Given the description of an element on the screen output the (x, y) to click on. 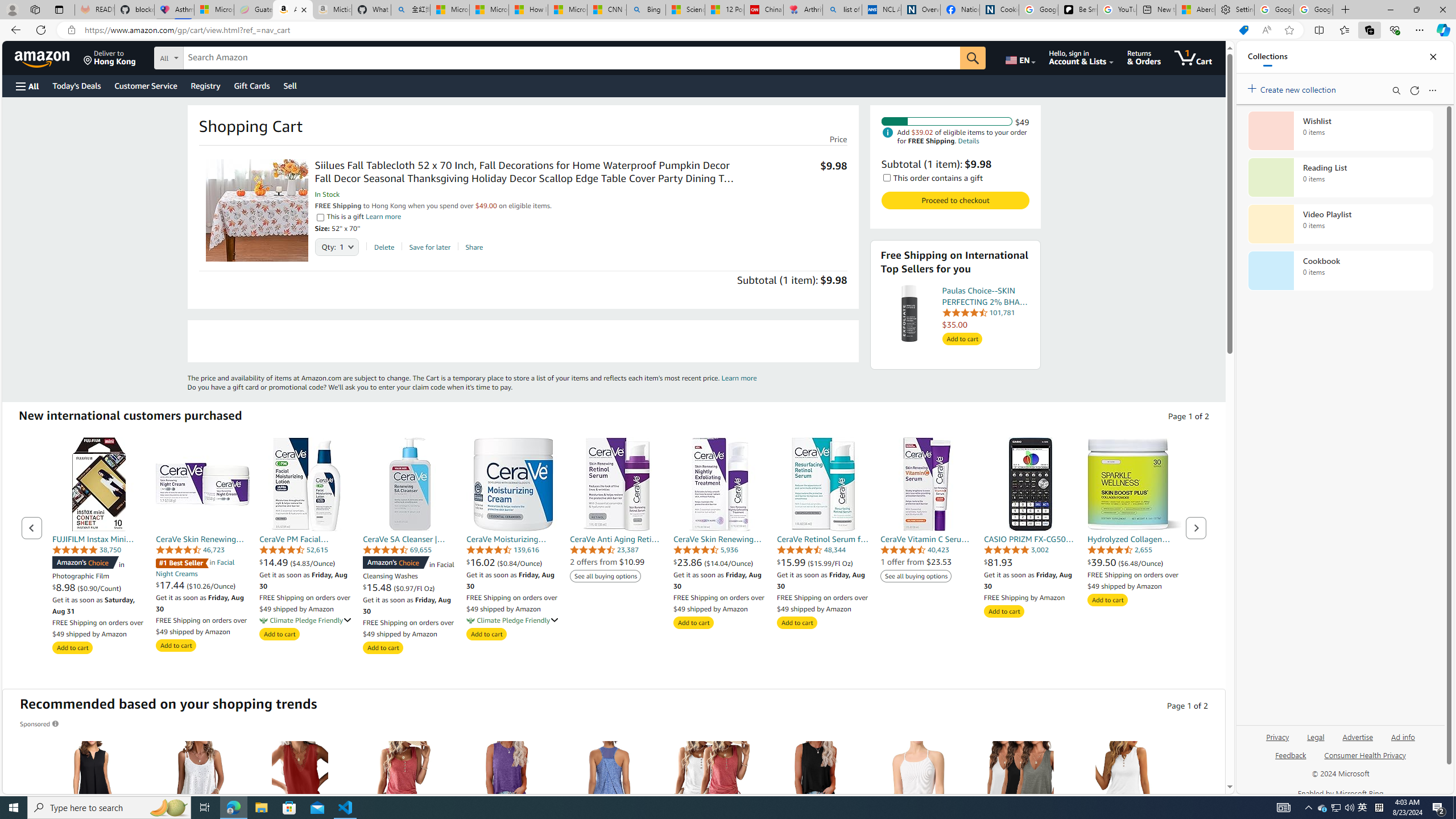
Cookies (999, 9)
12 Popular Science Lies that Must be Corrected (724, 9)
Go (972, 57)
Add to cart (1106, 600)
$35.00 (985, 324)
